Given the description of an element on the screen output the (x, y) to click on. 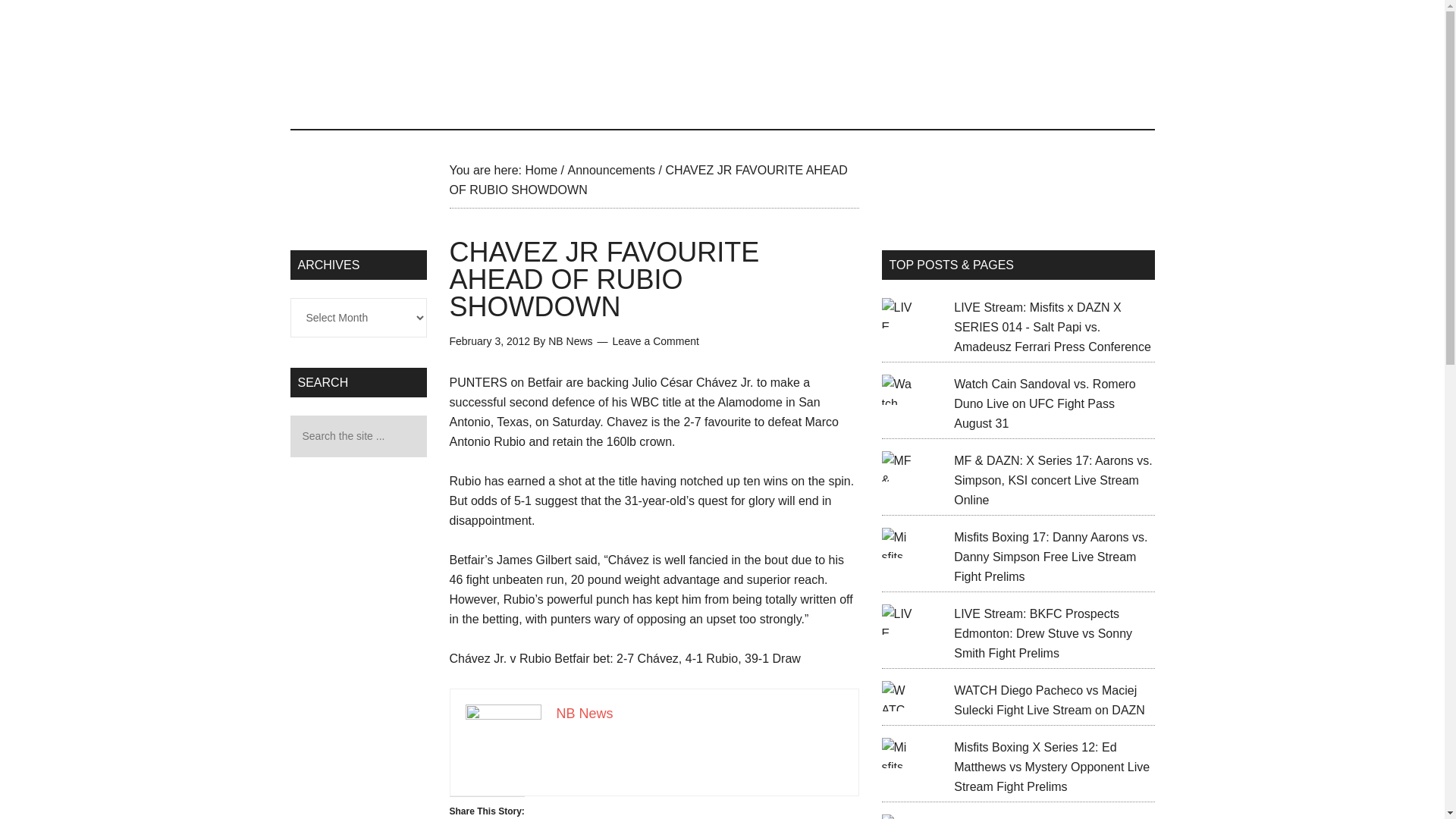
Home (540, 169)
Now Boxing (721, 64)
NB News (570, 340)
